Given the description of an element on the screen output the (x, y) to click on. 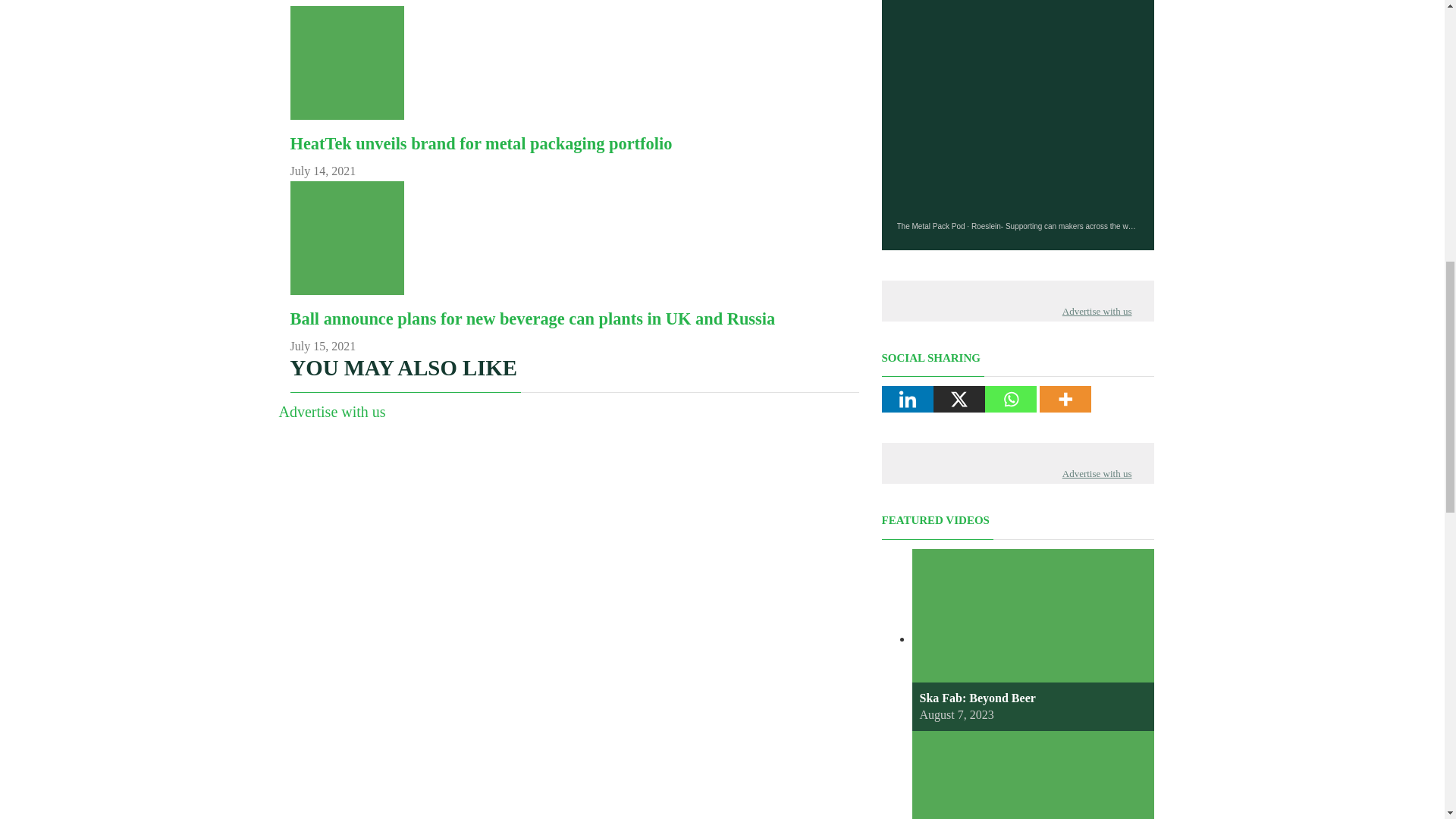
Advertise with us (332, 411)
The Metal Pack Pod (929, 225)
prev post (531, 318)
HeatTek unveils brand for metal packaging portfolio (480, 143)
prev post (480, 143)
